Given the description of an element on the screen output the (x, y) to click on. 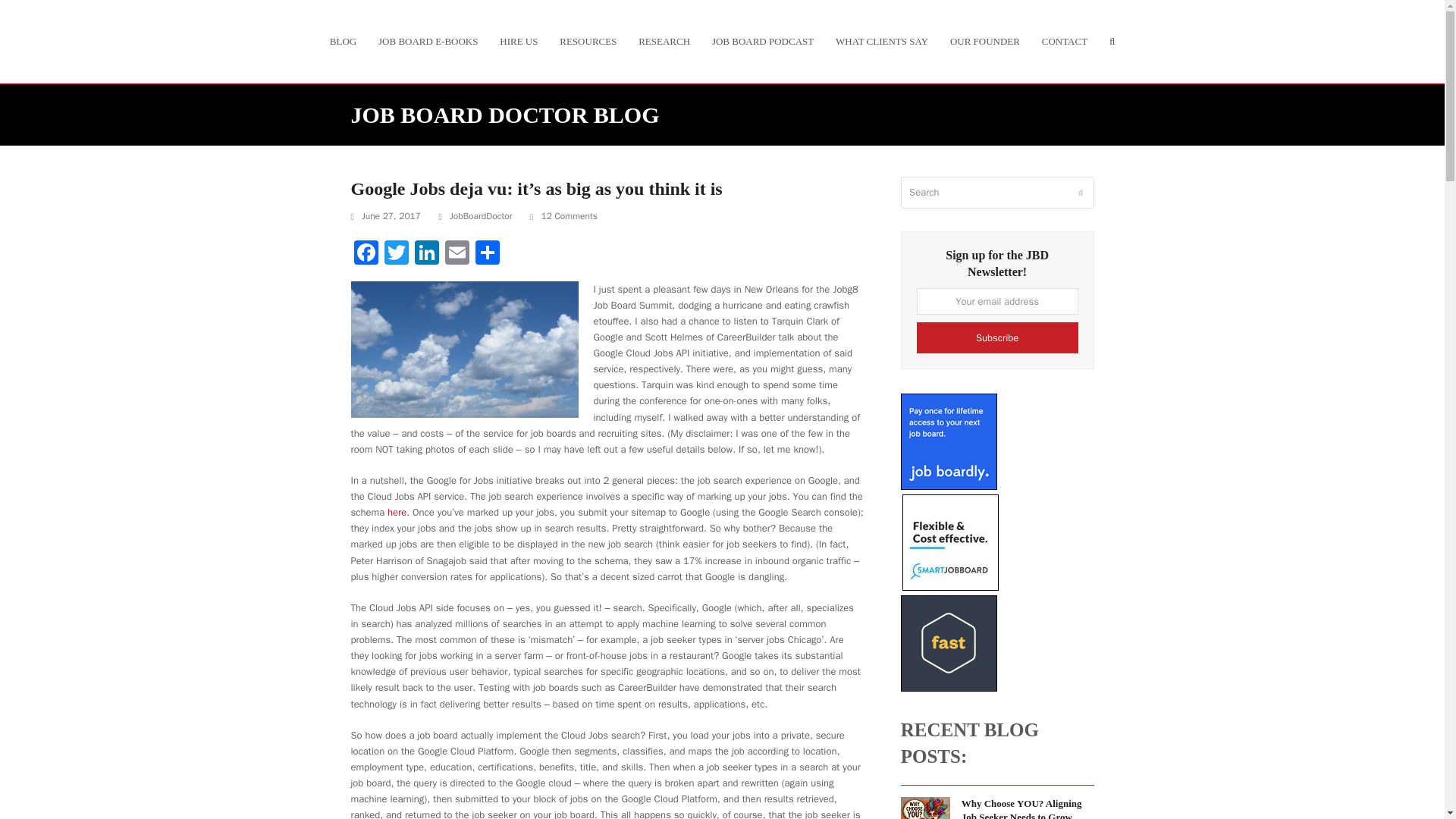
Twitter (395, 253)
Email (456, 253)
Contact (1063, 41)
Email (456, 253)
Twitter (395, 253)
JOB BOARD PODCAST (762, 41)
OUR FOUNDER (984, 41)
Posts by JobBoardDoctor (480, 215)
Google Jobs deja vu: it's as big as you think it is 1 (464, 348)
12 Comments (562, 216)
